Given the description of an element on the screen output the (x, y) to click on. 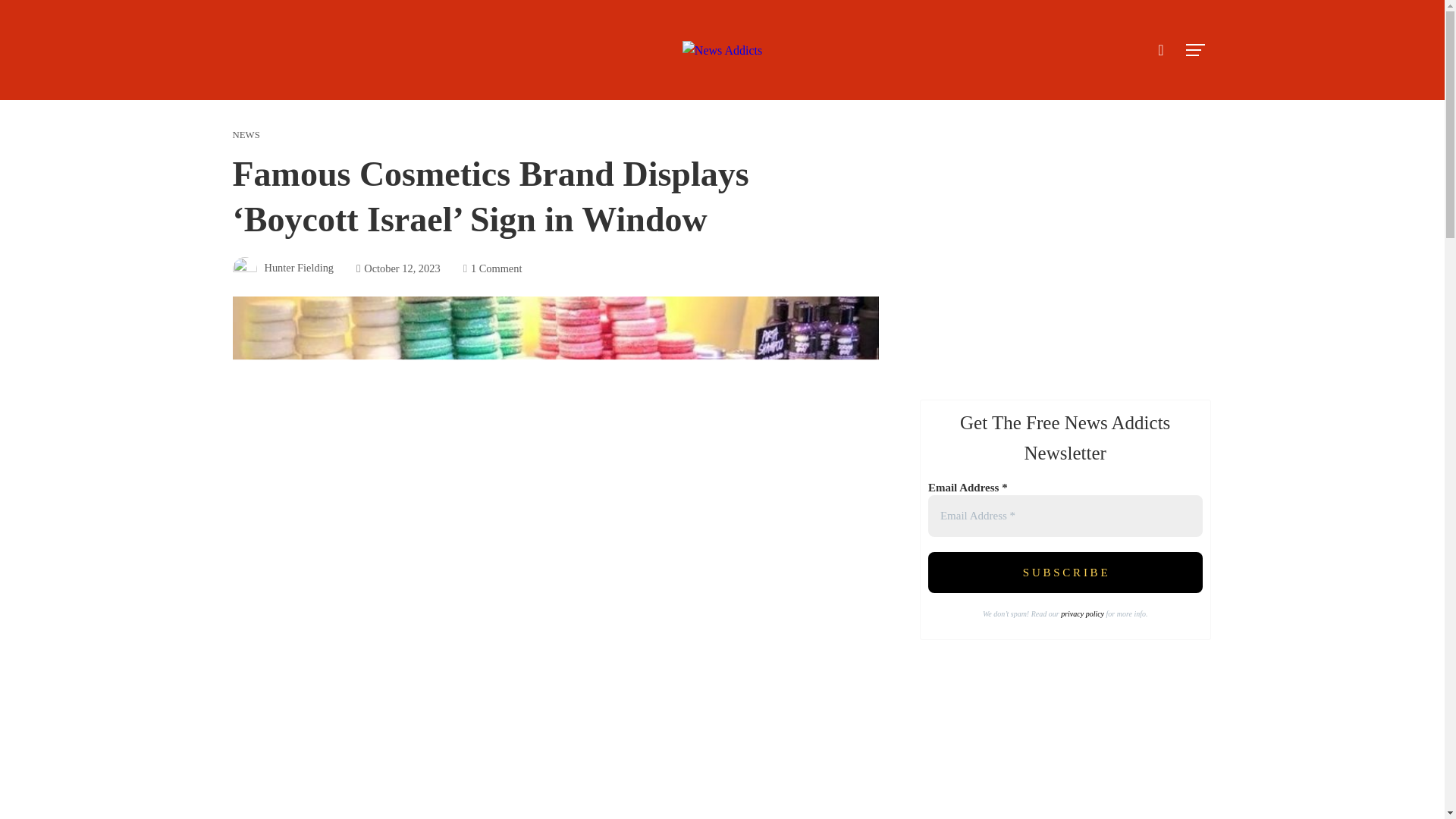
NEWS (245, 135)
S U B S C R I B E (1065, 572)
